Given the description of an element on the screen output the (x, y) to click on. 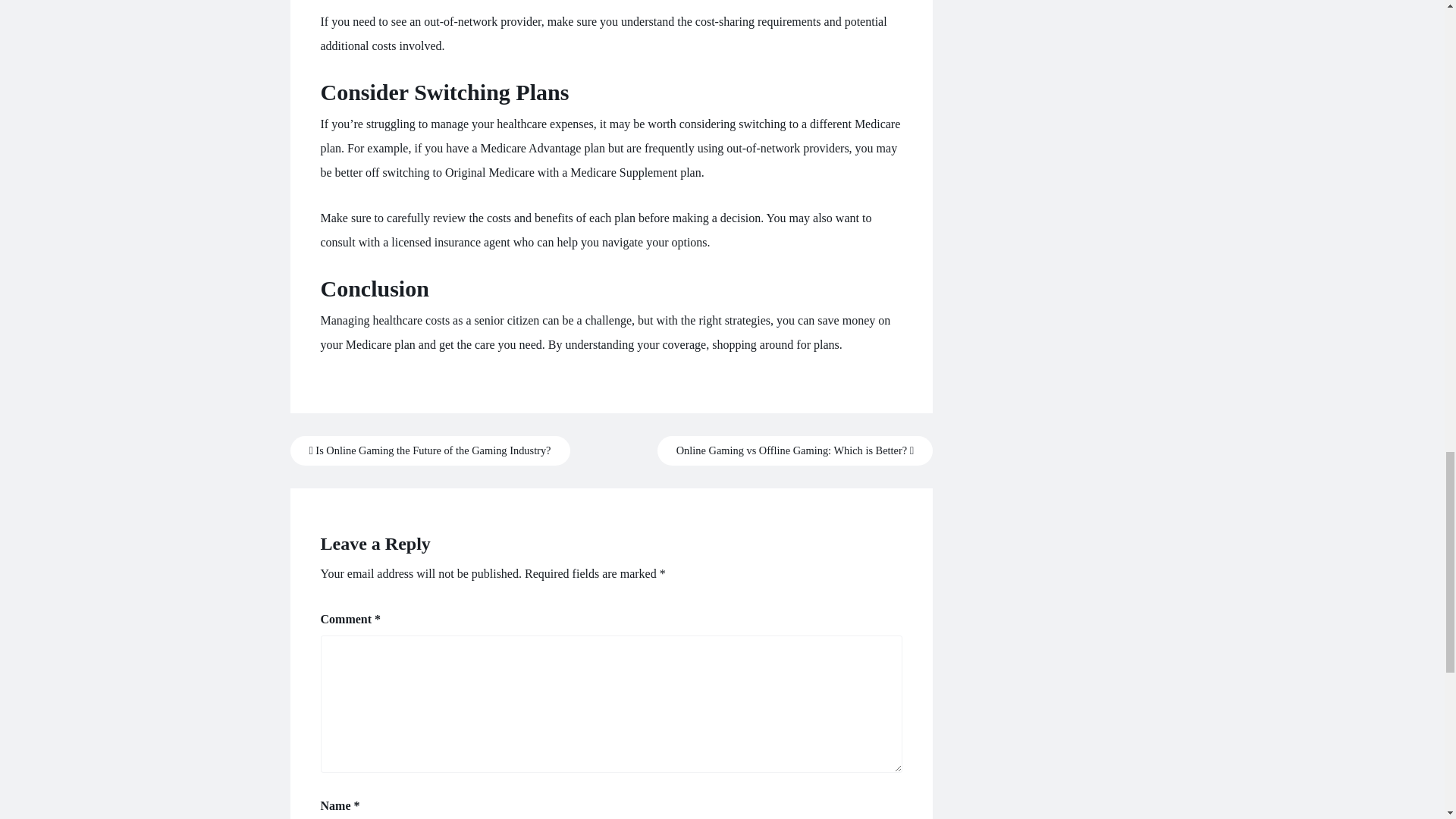
Is Online Gaming the Future of the Gaming Industry? (429, 450)
Online Gaming vs Offline Gaming: Which is Better? (795, 450)
